Given the description of an element on the screen output the (x, y) to click on. 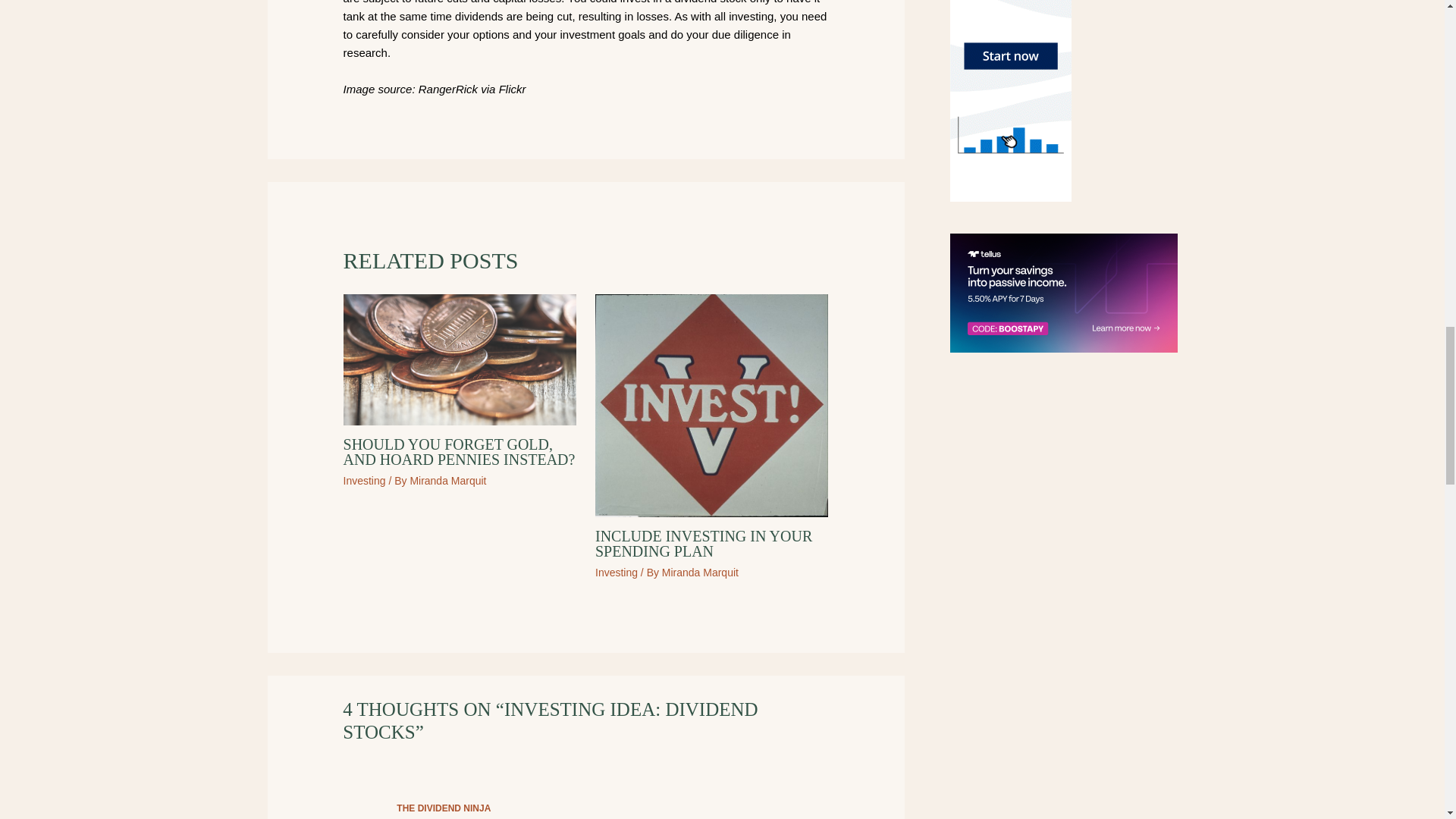
View all posts by Miranda Marquit (447, 480)
View all posts by Miranda Marquit (700, 572)
Investing (364, 480)
Investing (616, 572)
SHOULD YOU FORGET GOLD, AND HOARD PENNIES INSTEAD? (459, 451)
Miranda Marquit (447, 480)
INCLUDE INVESTING IN YOUR SPENDING PLAN (703, 543)
